Given the description of an element on the screen output the (x, y) to click on. 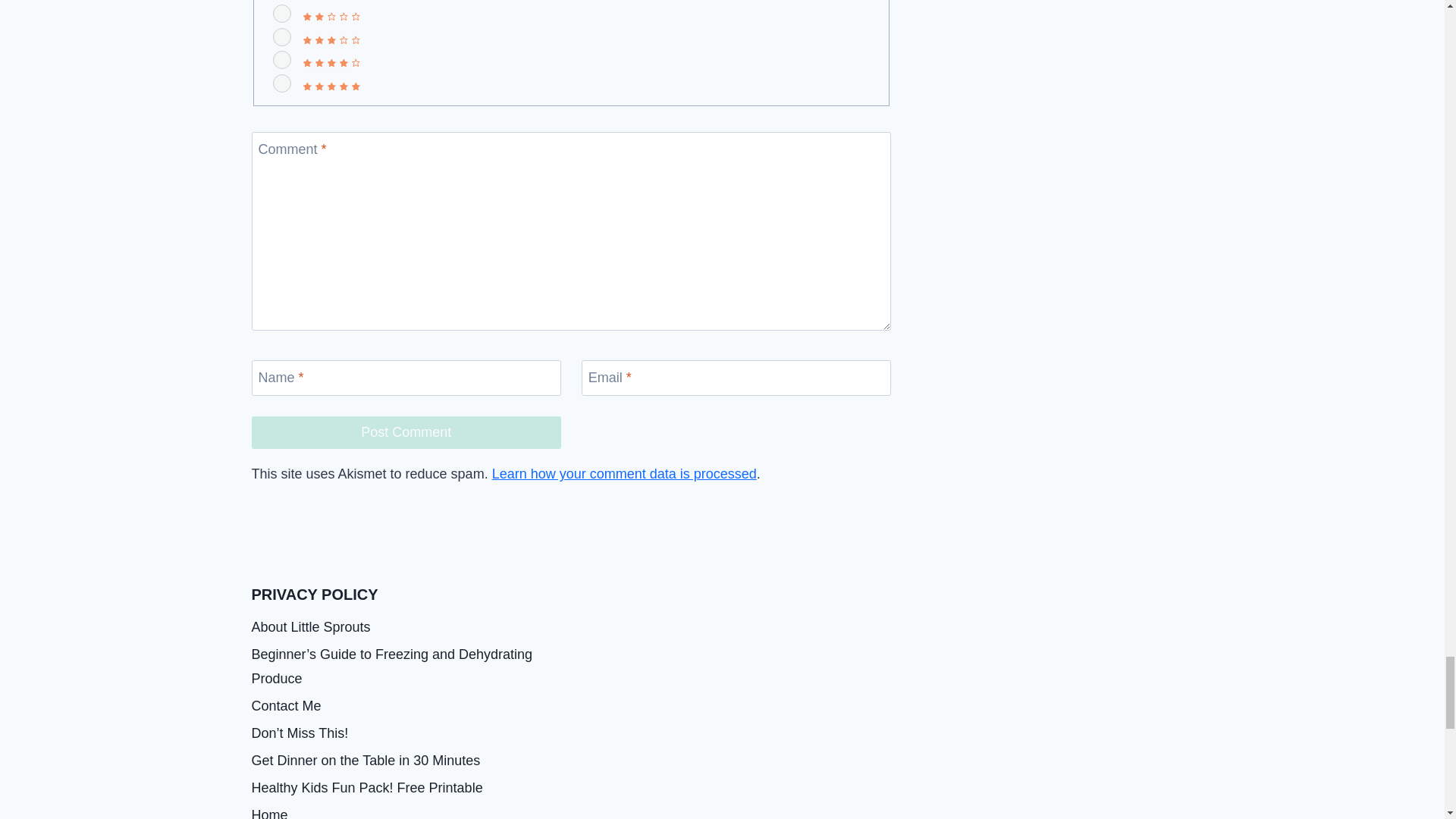
2 (282, 13)
5 (282, 83)
Post Comment (405, 432)
4 (282, 59)
3 (282, 36)
